Given the description of an element on the screen output the (x, y) to click on. 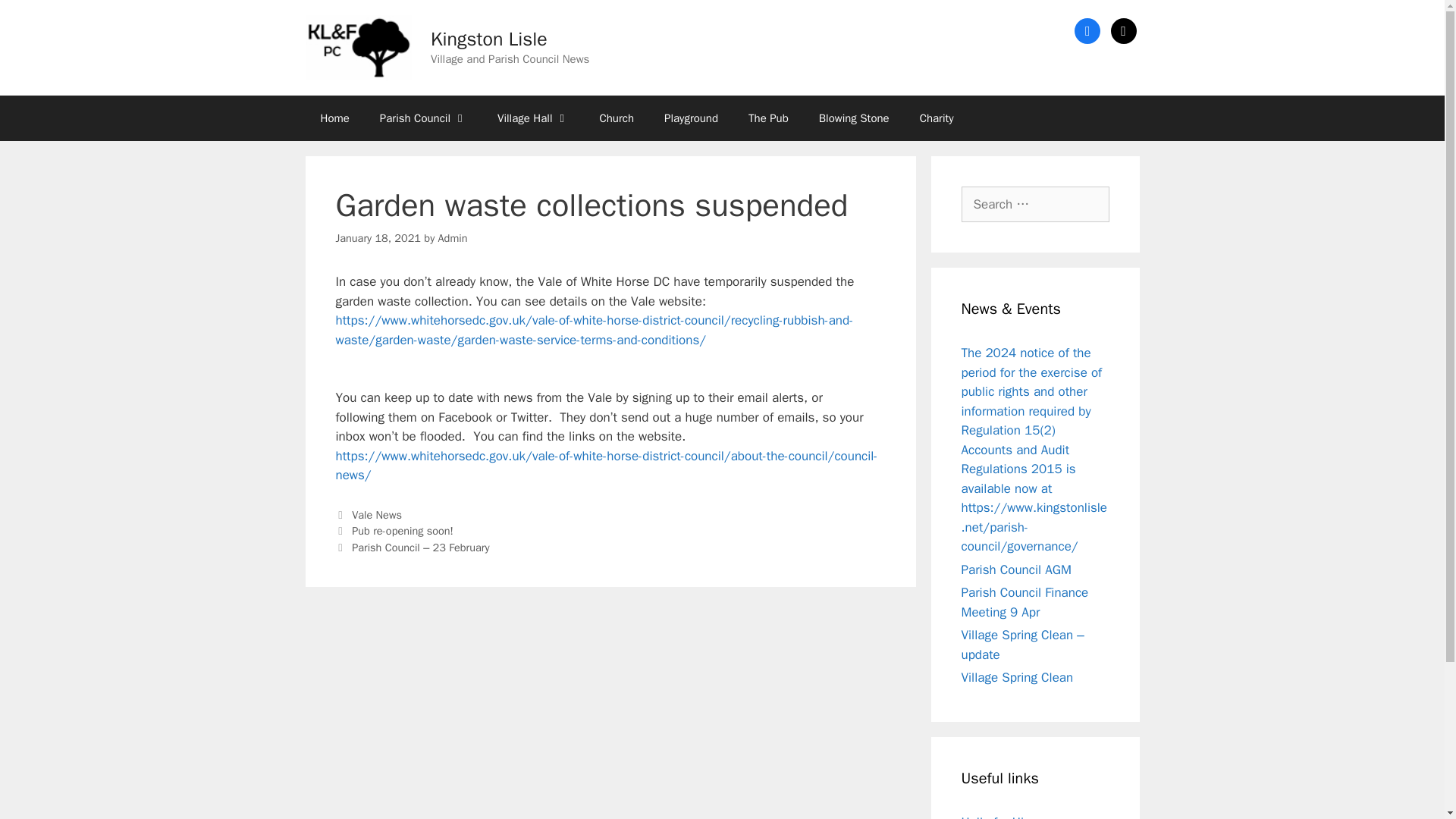
Village Spring Clean (1017, 677)
Blowing Stone (853, 117)
Church (616, 117)
Kingston Lisle Village Hall (532, 117)
Home (334, 117)
Playground (691, 117)
Parish Council Finance Meeting 9 Apr (1024, 601)
Kingston Lisle (488, 38)
Parish Council AGM (1015, 569)
Vale News (376, 514)
Village Hall (532, 117)
Charity (936, 117)
Facebook (1087, 29)
Search (35, 18)
View all posts by Admin (452, 237)
